Given the description of an element on the screen output the (x, y) to click on. 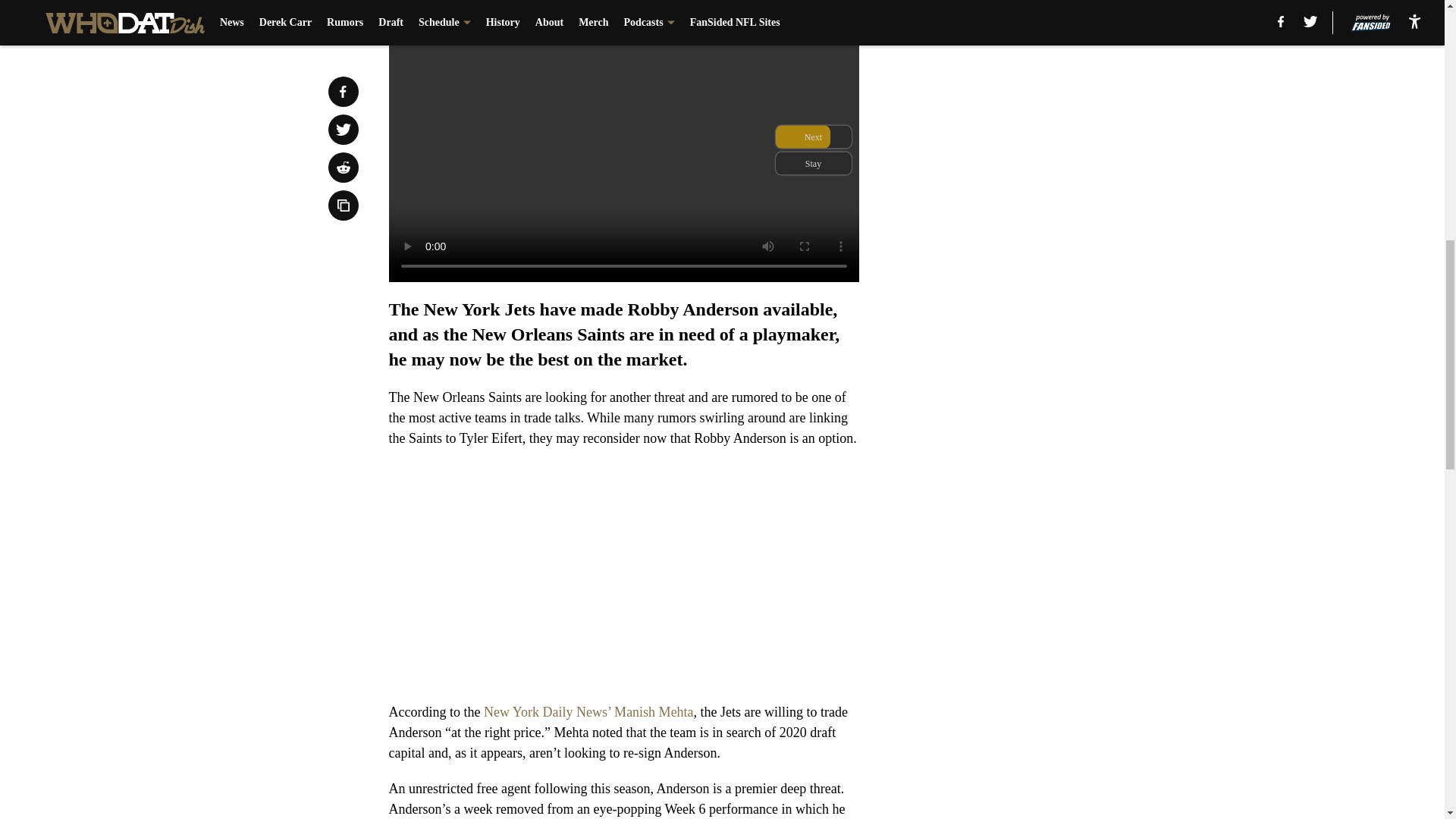
3rd party ad content (1047, 332)
3rd party ad content (1047, 113)
